Given the description of an element on the screen output the (x, y) to click on. 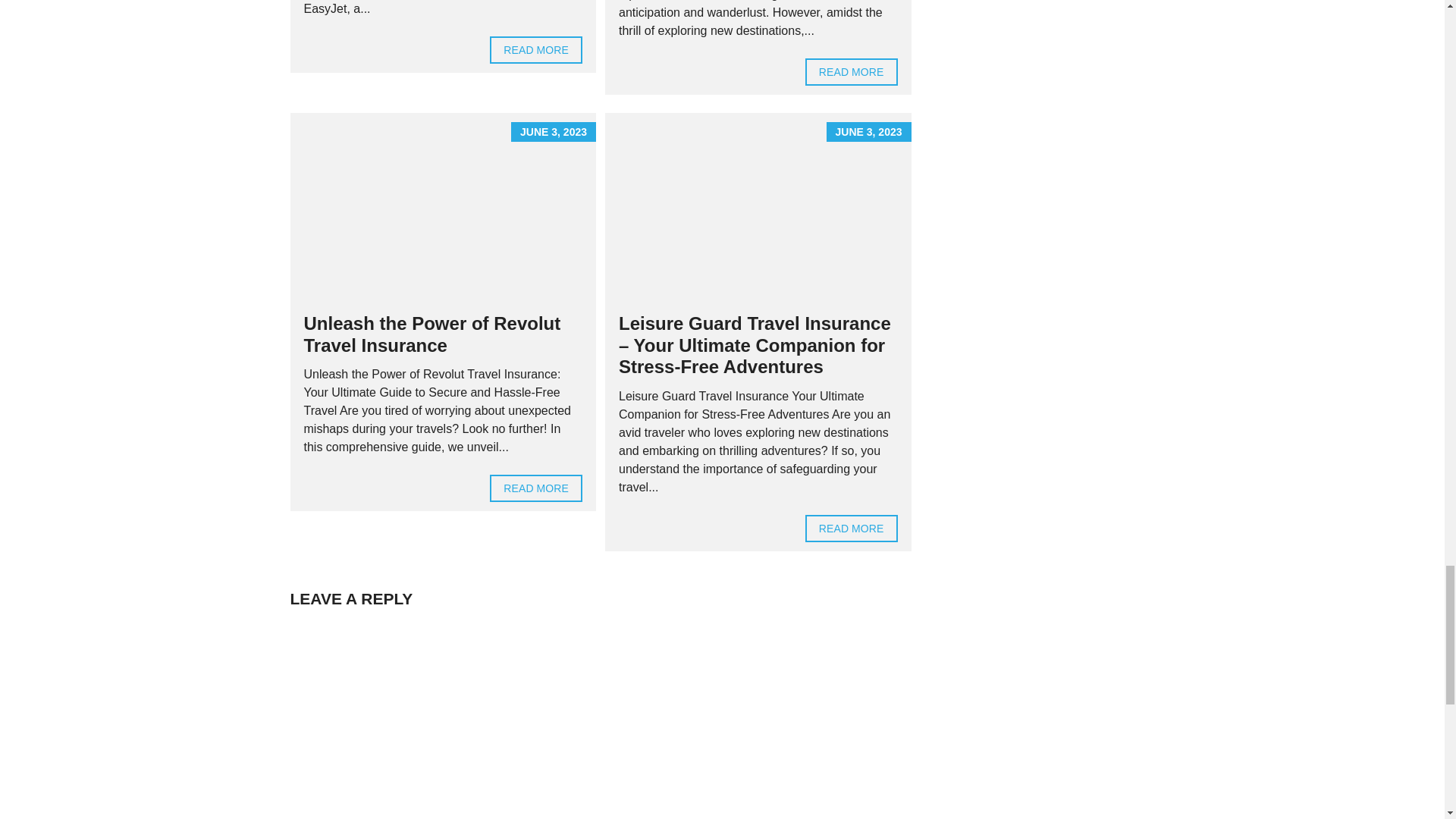
Unveiling the Pros and Cons of EasyJet Travel Insurance (535, 49)
